Given the description of an element on the screen output the (x, y) to click on. 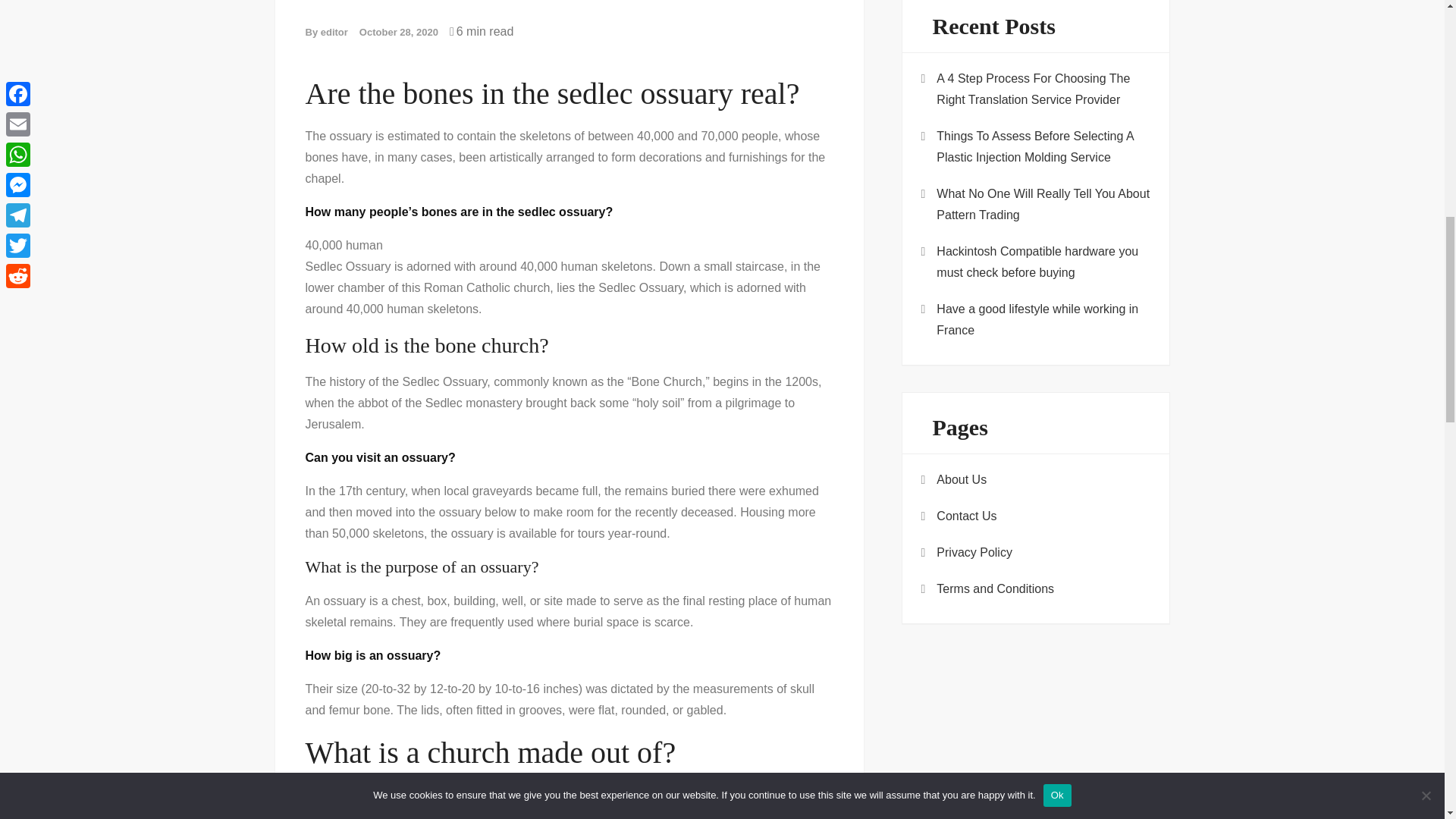
Contact Us (965, 516)
Privacy Policy (973, 552)
About Us (961, 479)
Terms and Conditions (995, 588)
What No One Will Really Tell You About Pattern Trading (1043, 204)
October 28, 2020 (398, 31)
Hackintosh Compatible hardware you must check before buying (1043, 261)
editor (333, 31)
Have a good lifestyle while working in France (1043, 319)
